Given the description of an element on the screen output the (x, y) to click on. 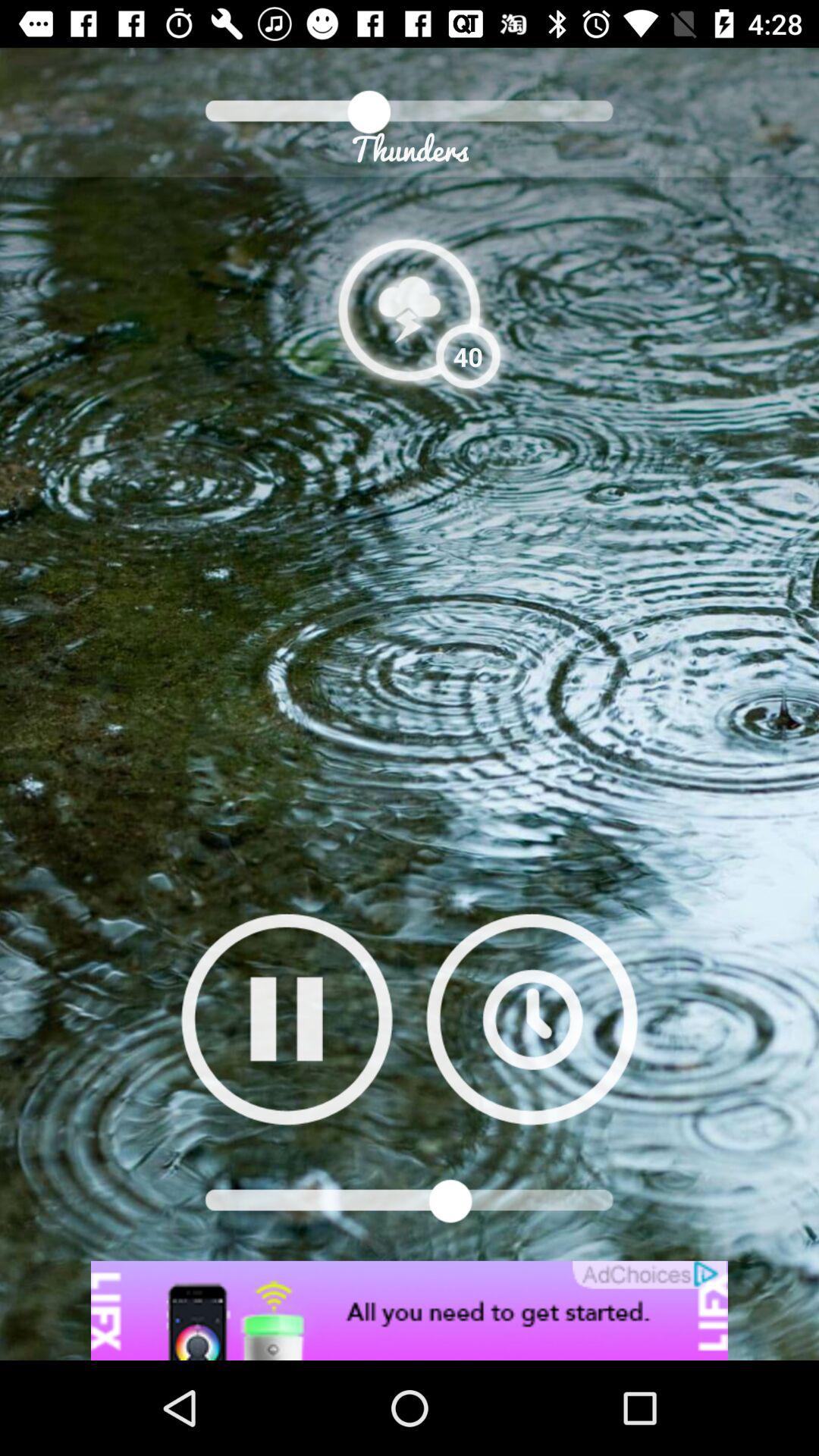
thunders option (408, 309)
